Given the description of an element on the screen output the (x, y) to click on. 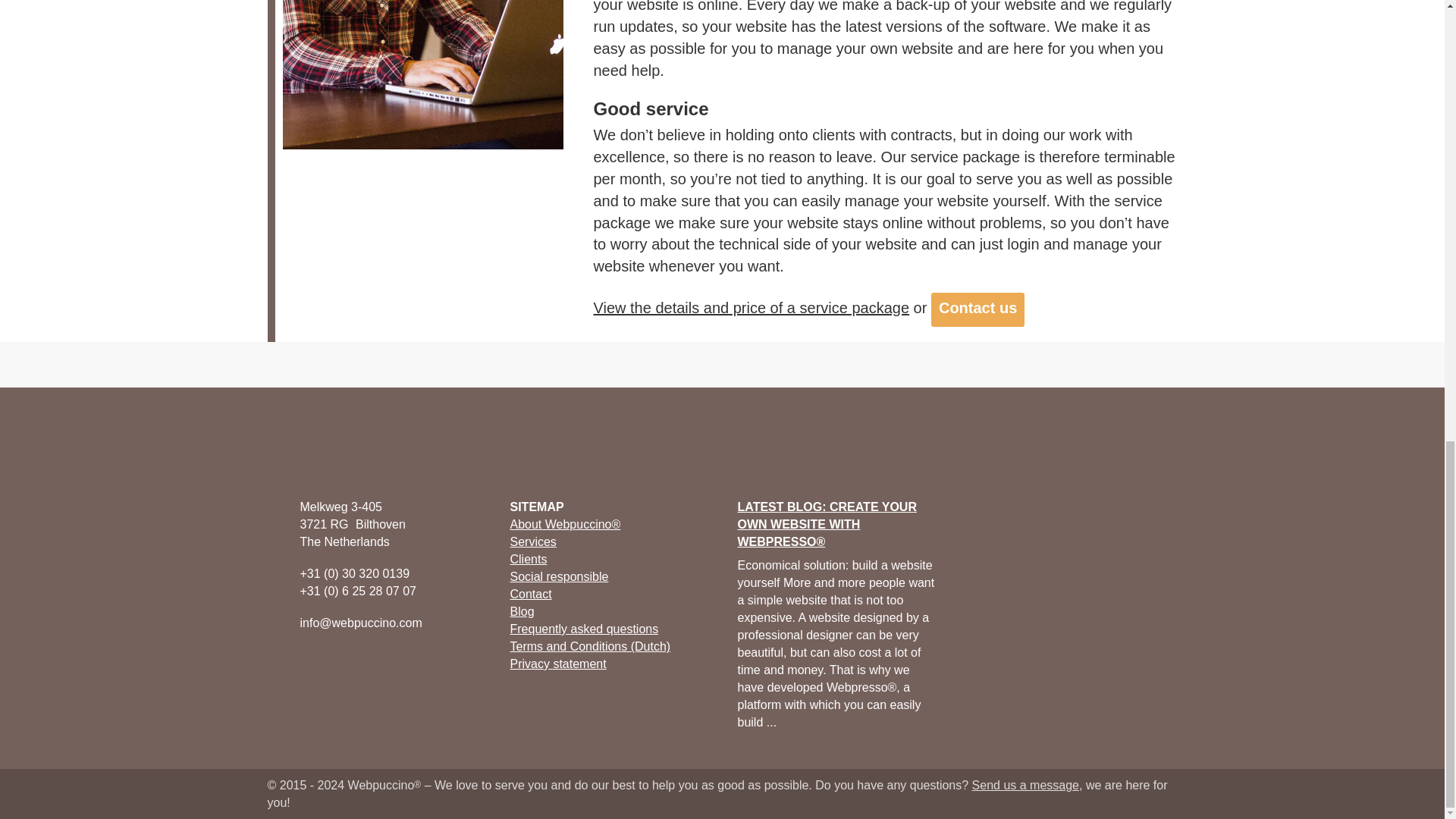
Pinterest (352, 662)
Send us a message (1025, 784)
Twitter (301, 662)
Social responsible (558, 576)
Facebook (275, 662)
Frequently asked questions (583, 628)
E-mail (404, 662)
Blog (521, 611)
Contact (530, 594)
Services (532, 541)
